Given the description of an element on the screen output the (x, y) to click on. 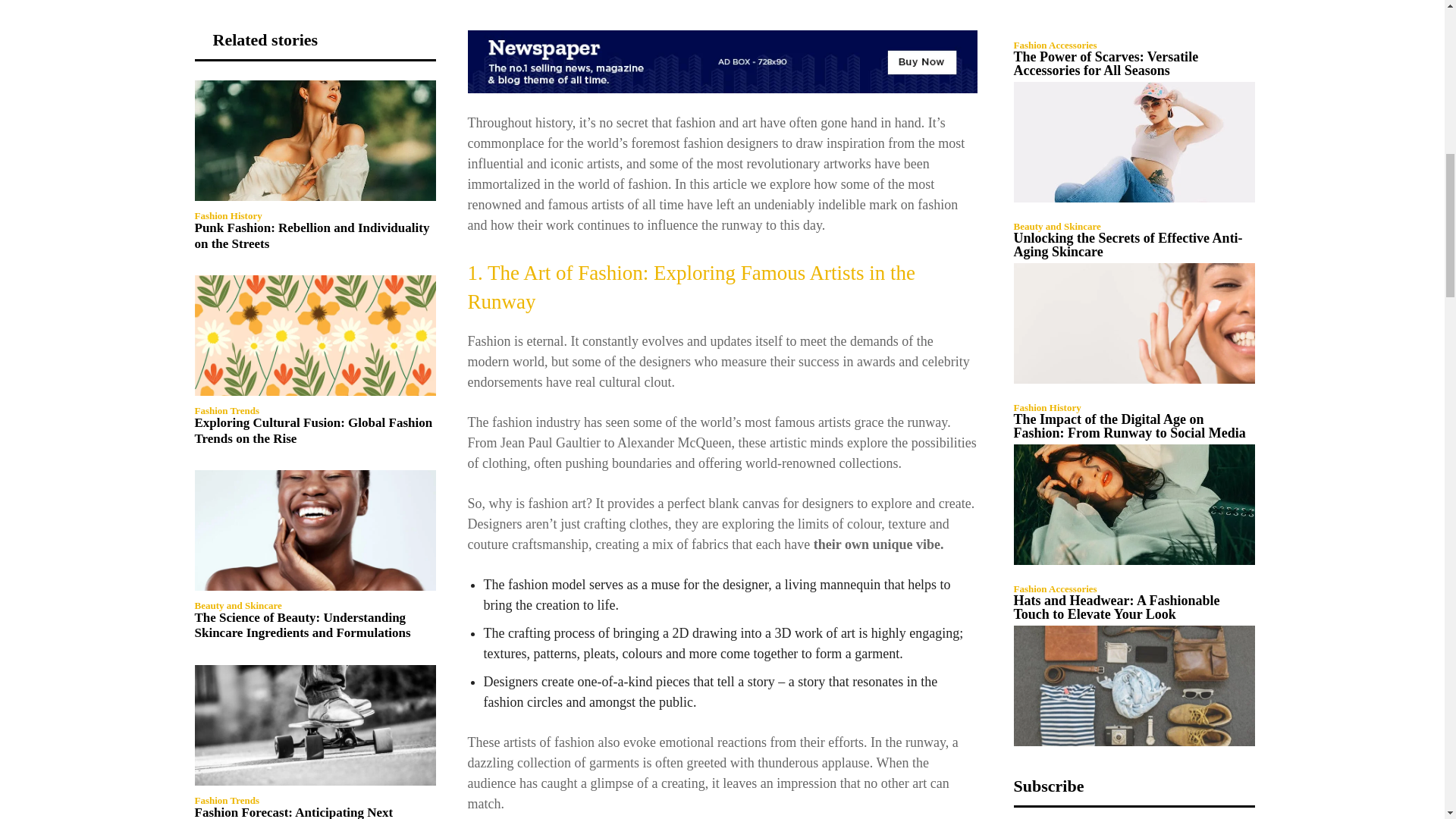
The Power of Scarves: Versatile Accessories for All Seasons (1105, 63)
Exploring Cultural Fusion: Global Fashion Trends on the Rise (312, 430)
Fashion Trends (226, 410)
Punk Fashion: Rebellion and Individuality on the Streets (311, 235)
Beauty and Skincare (237, 605)
Unlocking the Secrets of Effective Anti-Aging Skincare (1133, 323)
Punk Fashion: Rebellion and Individuality on the Streets (311, 235)
Fashion Trends (226, 800)
Punk Fashion: Rebellion and Individuality on the Streets (314, 140)
Exploring Cultural Fusion: Global Fashion Trends on the Rise (314, 335)
Fashion History (227, 215)
The Power of Scarves: Versatile Accessories for All Seasons (1133, 141)
